Given the description of an element on the screen output the (x, y) to click on. 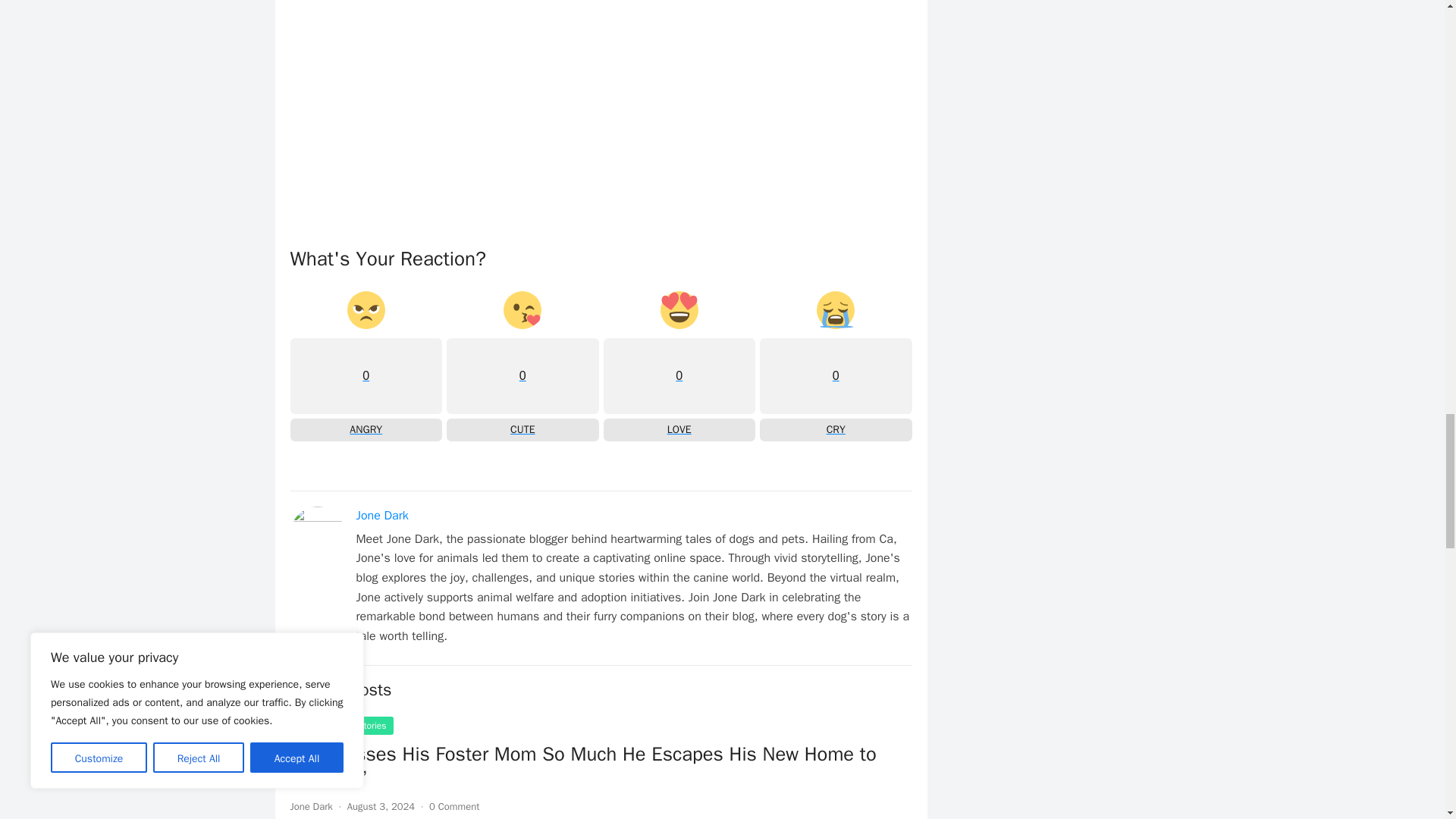
Jone Dark (522, 366)
0 Comment (836, 366)
Dog's Birthday Stories (310, 806)
Jone Dark (365, 366)
Posts by Jone Dark (454, 806)
